Given the description of an element on the screen output the (x, y) to click on. 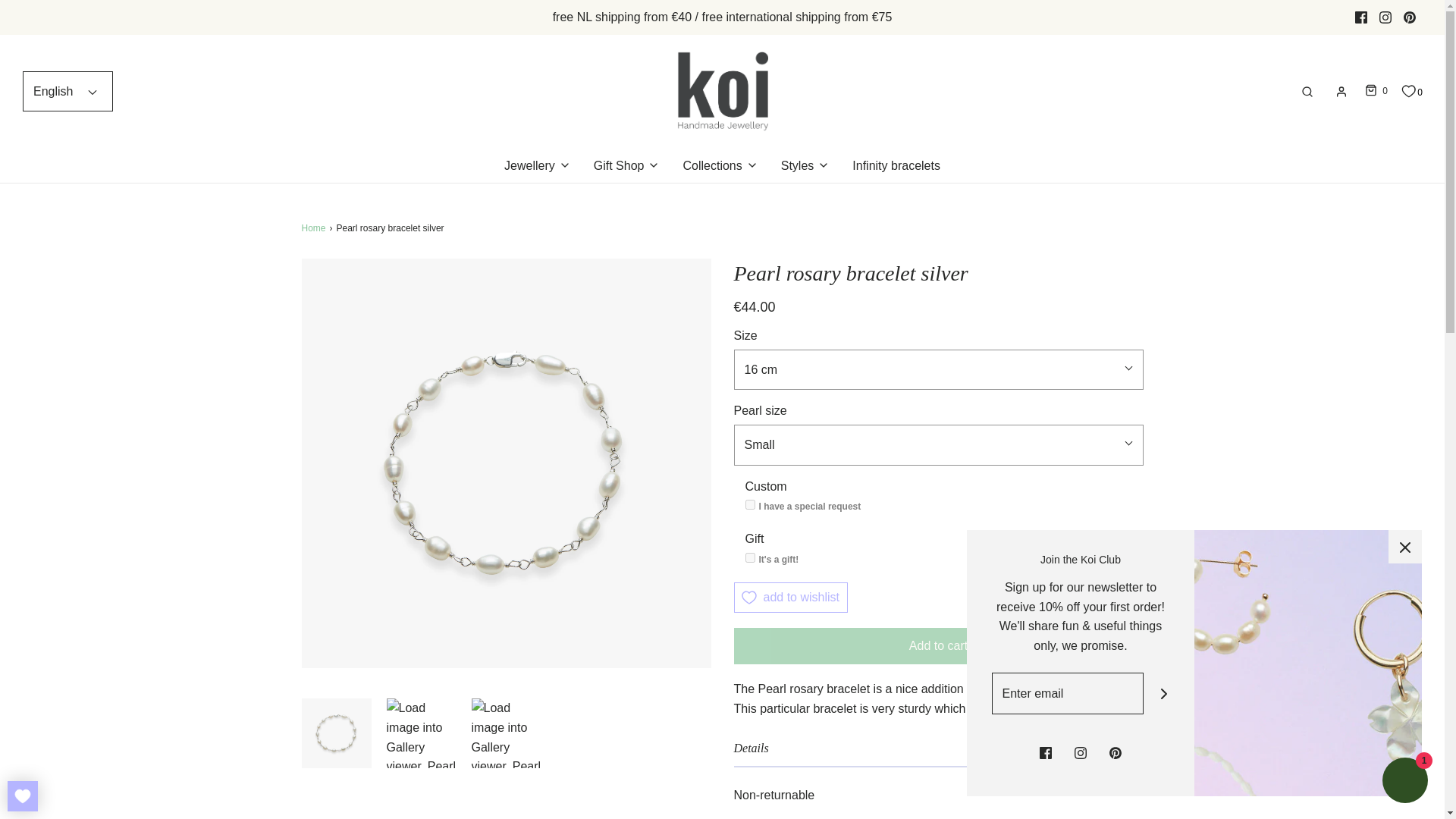
It's a gift! (749, 557)
Log in (1341, 91)
Search (1307, 91)
Back to the frontpage (315, 228)
I have a special request (749, 504)
Cart (1374, 91)
Facebook icon (1361, 16)
Instagram icon (1385, 16)
Shopify online store chat (1404, 781)
Facebook icon (1361, 17)
Instagram icon (1384, 17)
Pinterest icon (1409, 17)
Pinterest icon (1409, 16)
